Given the description of an element on the screen output the (x, y) to click on. 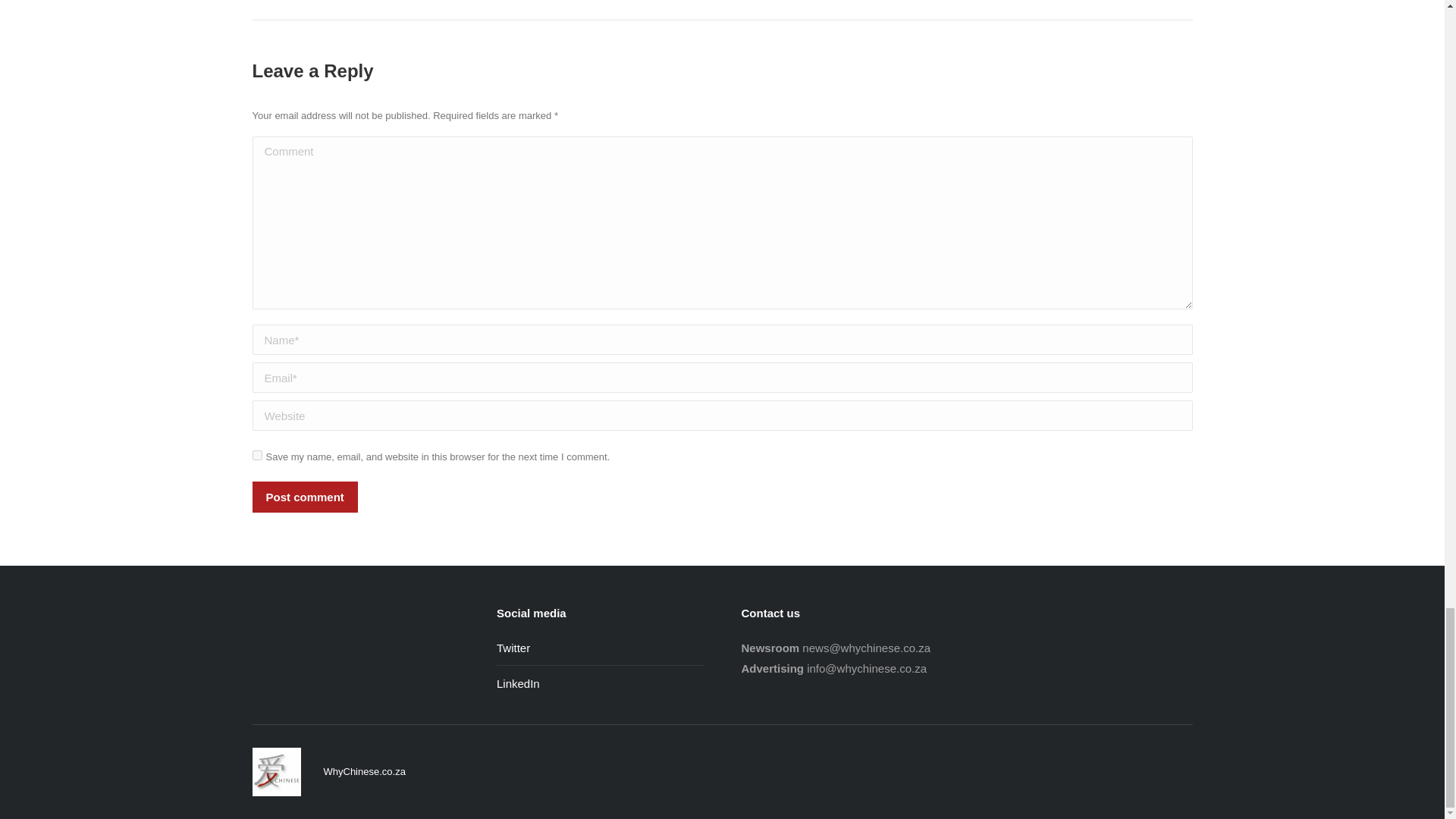
yes (256, 455)
